Given the description of an element on the screen output the (x, y) to click on. 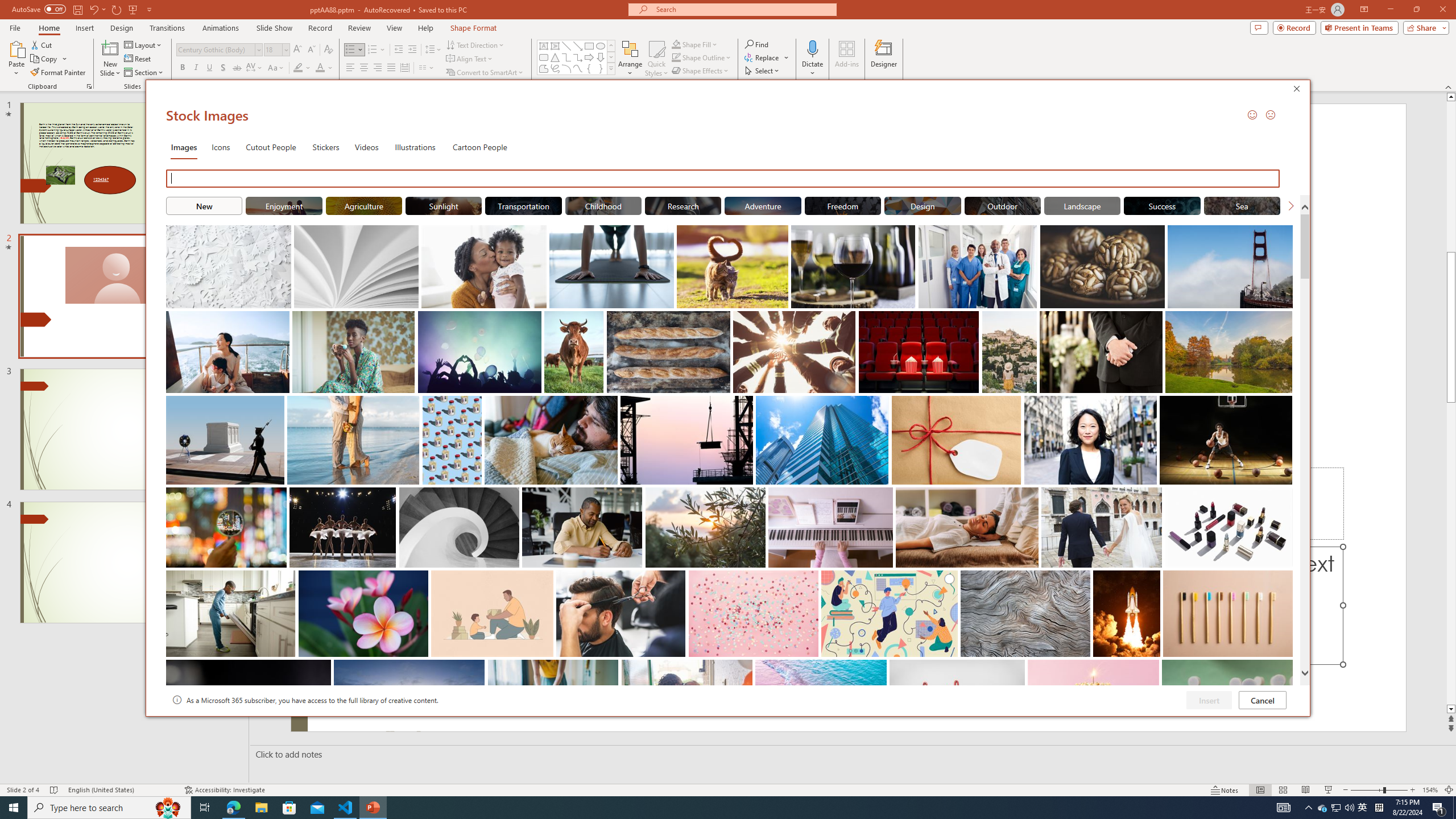
Shape Fill Aqua, Accent 2 (675, 44)
Icons (220, 146)
